Given the description of an element on the screen output the (x, y) to click on. 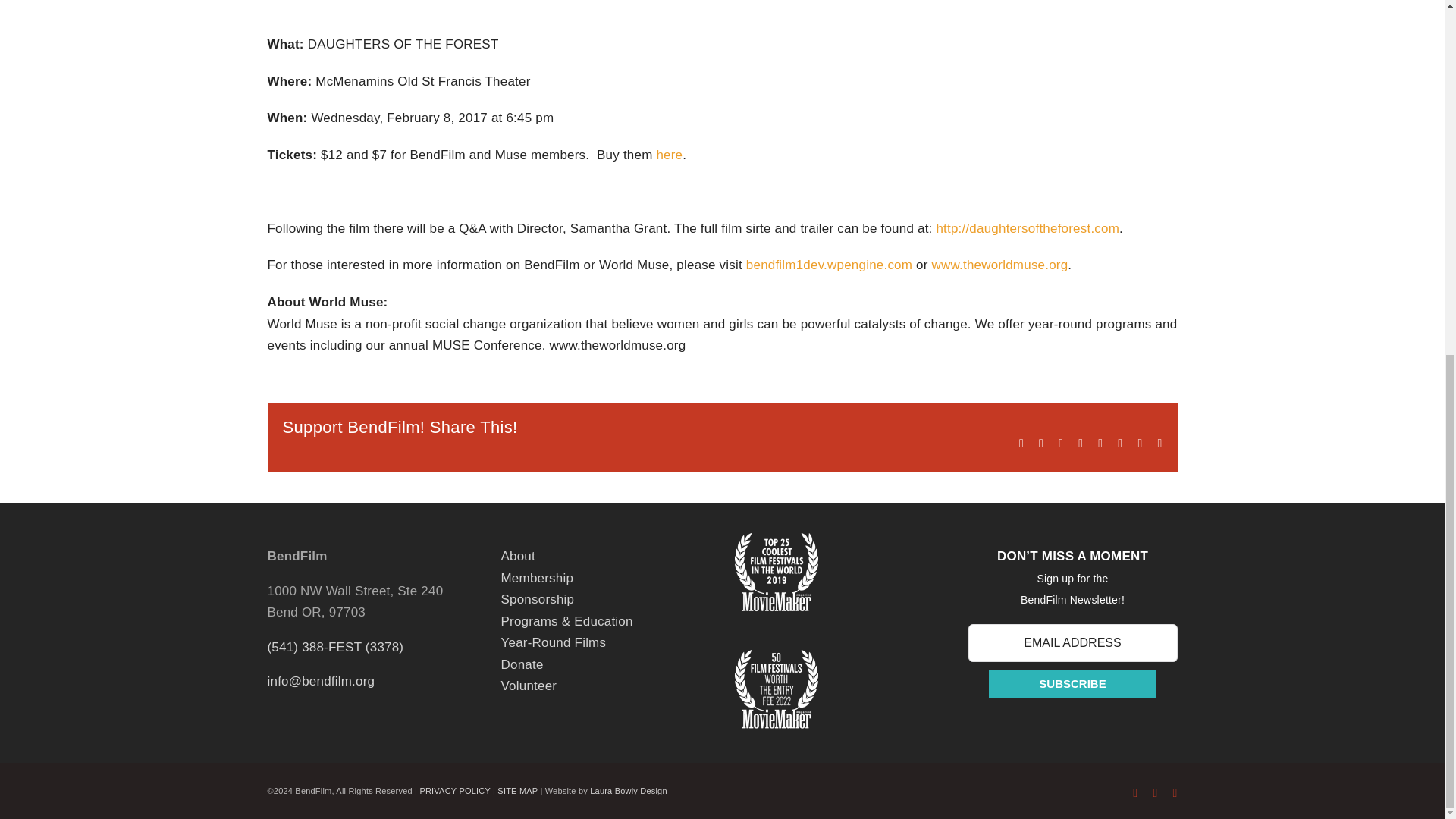
SUBSCRIBE (1072, 683)
